Given the description of an element on the screen output the (x, y) to click on. 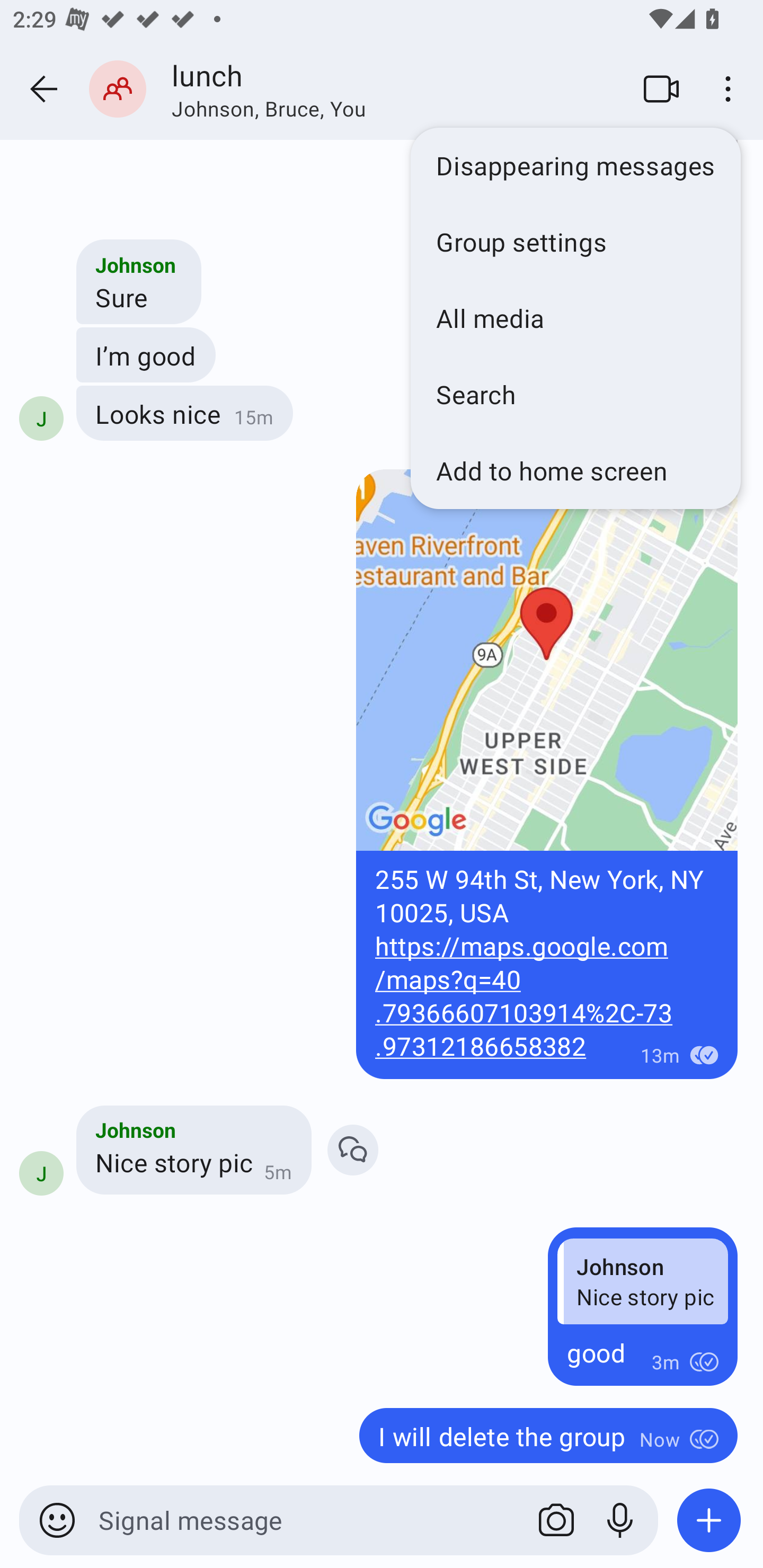
Group settings (575, 241)
